Given the description of an element on the screen output the (x, y) to click on. 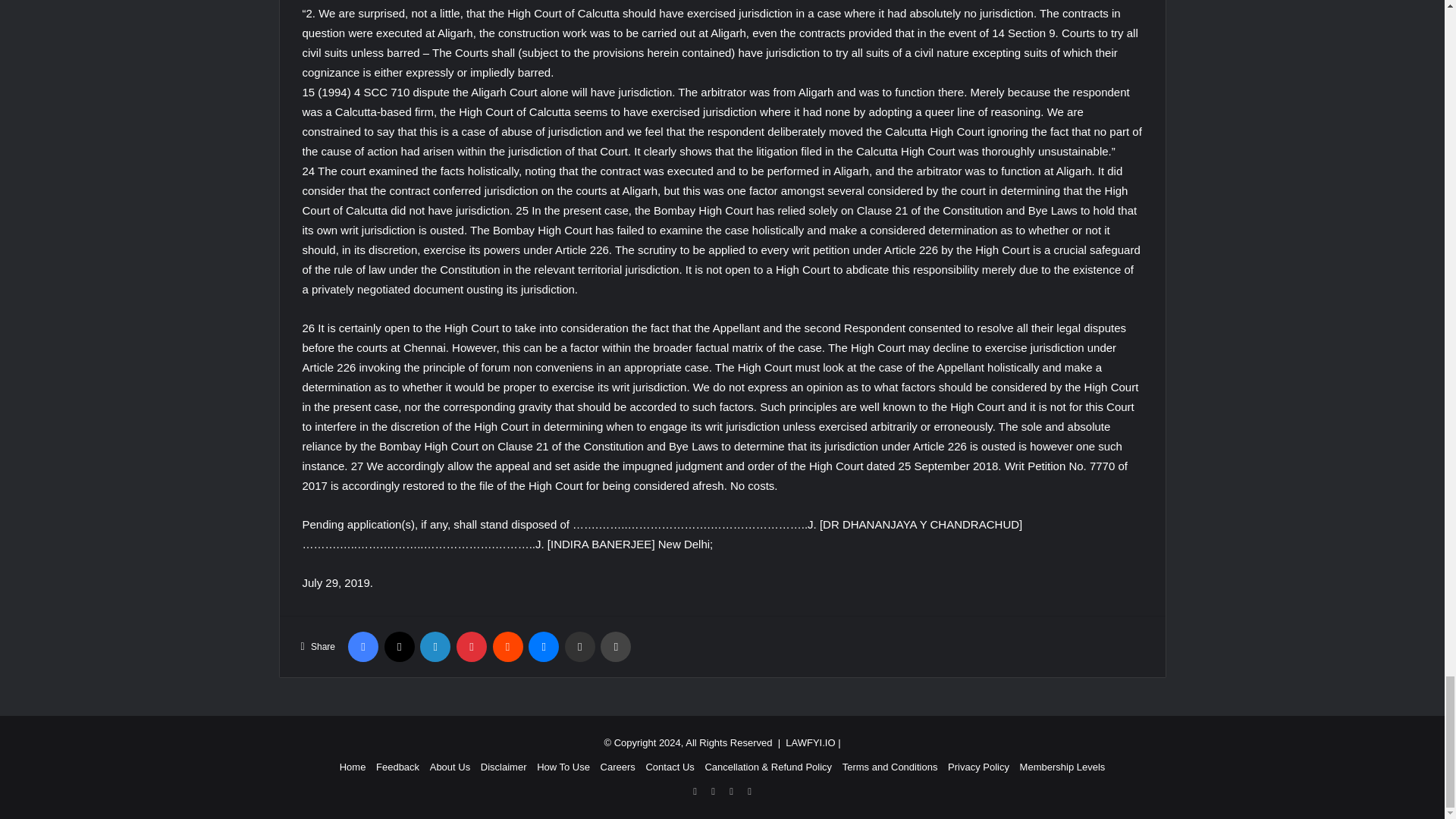
Share via Email (579, 646)
X (399, 646)
Print (614, 646)
Reddit (507, 646)
Reddit (507, 646)
LinkedIn (434, 646)
Facebook (362, 646)
Messenger (543, 646)
LinkedIn (434, 646)
Facebook (362, 646)
